Given the description of an element on the screen output the (x, y) to click on. 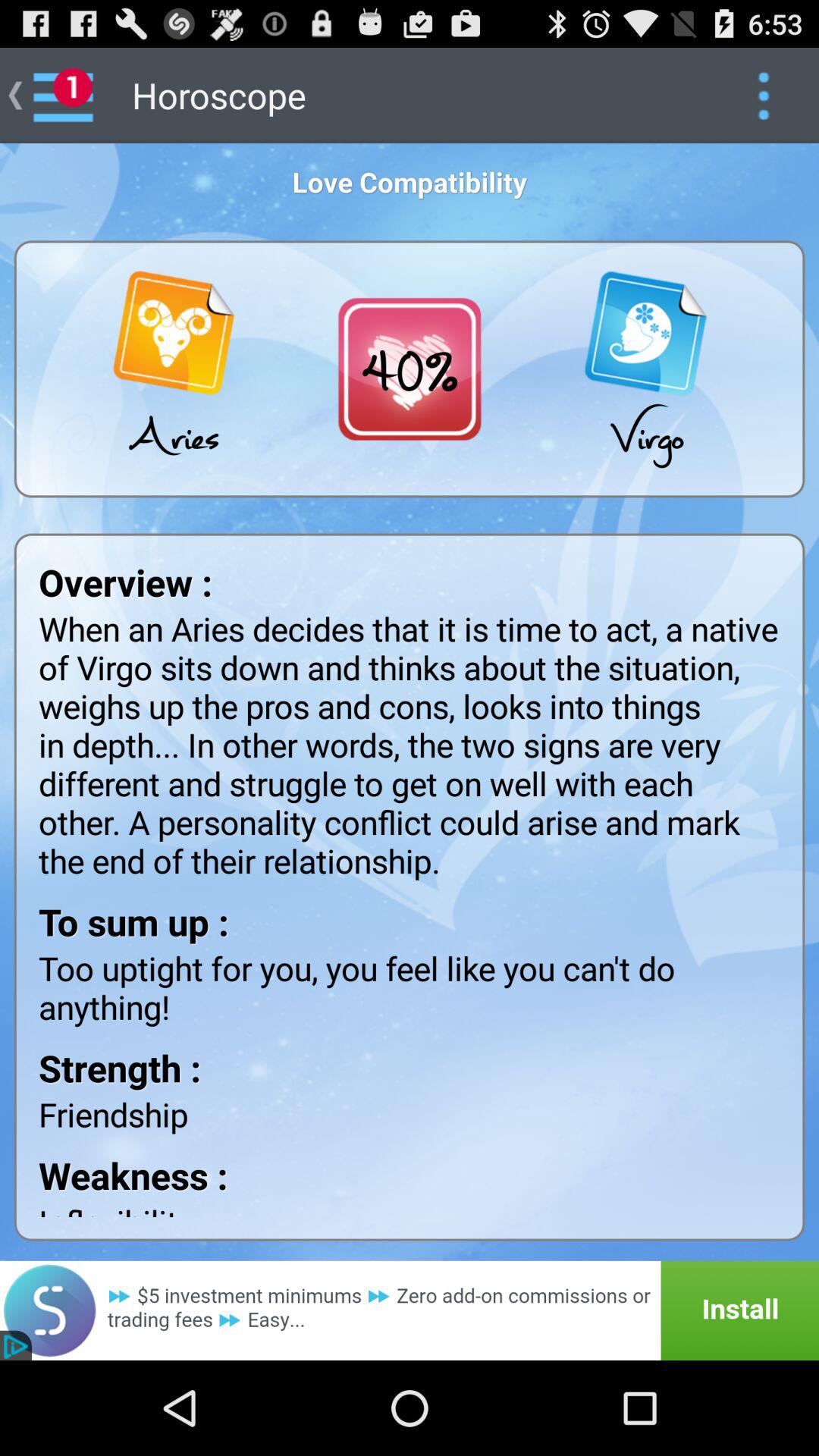
go to url (409, 1310)
